Given the description of an element on the screen output the (x, y) to click on. 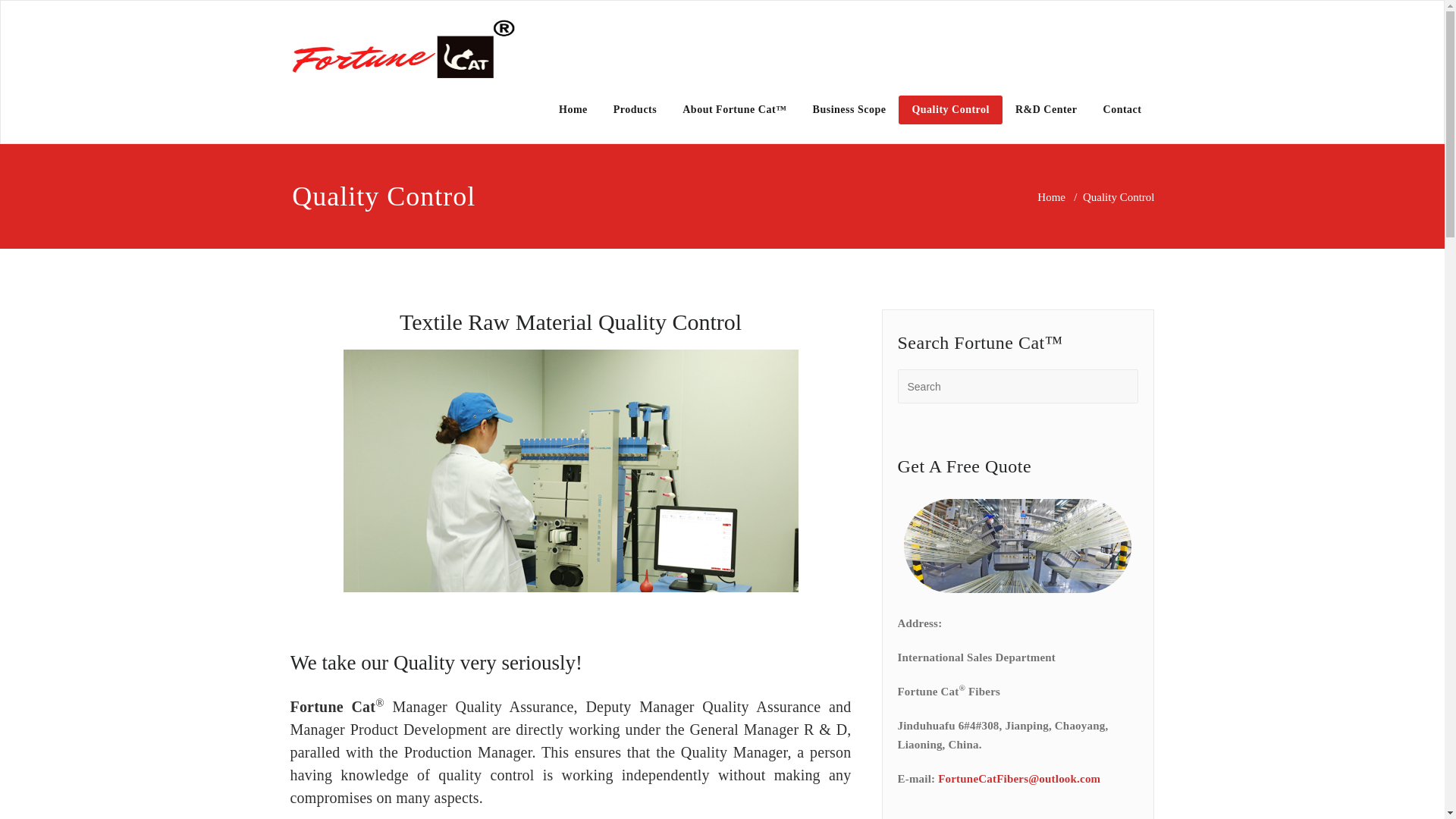
Business Scope (849, 109)
Contact (1122, 109)
Quality Control (950, 109)
fortune cat yarn logo (402, 48)
Products (634, 109)
Home (1050, 196)
Home (572, 109)
